Given the description of an element on the screen output the (x, y) to click on. 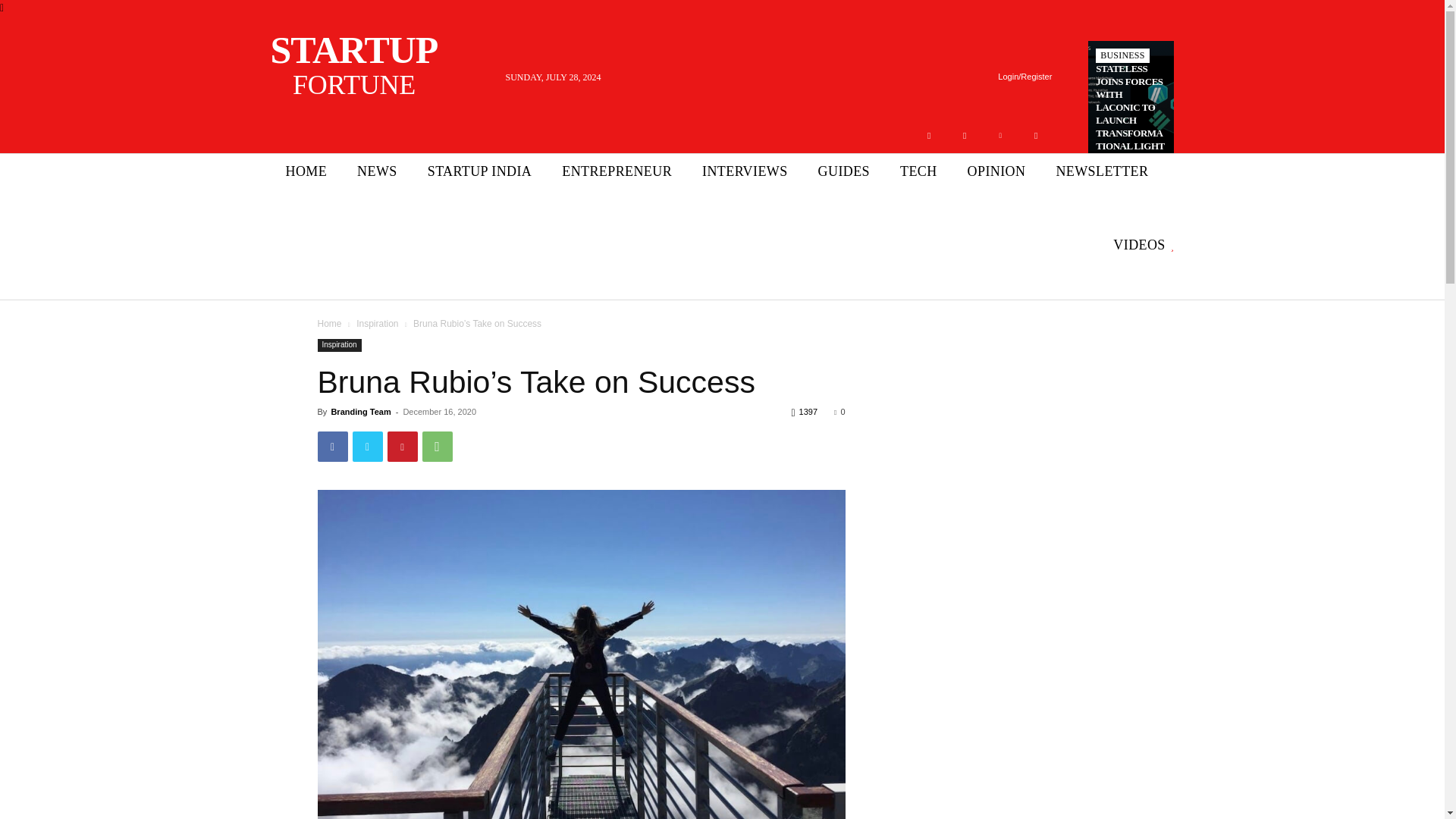
Twitter (368, 66)
HOME (1035, 135)
Linkedin (305, 171)
NEWS (1000, 135)
Facebook (377, 171)
BUSINESS (928, 135)
Instagram (1122, 55)
